Given the description of an element on the screen output the (x, y) to click on. 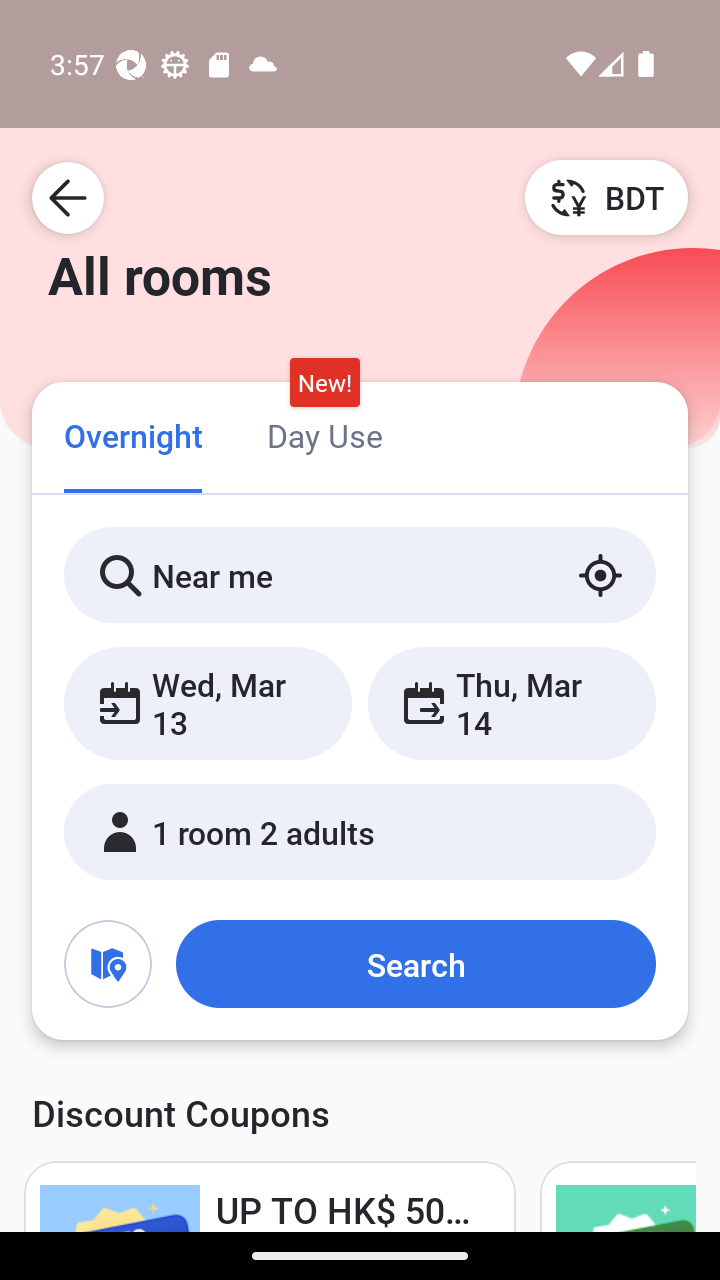
BDT (606, 197)
New! (324, 383)
Day Use (324, 434)
Near me (359, 575)
Wed, Mar 13 (208, 703)
Thu, Mar 14 (511, 703)
1 room 2 adults (359, 831)
Search (415, 964)
